Given the description of an element on the screen output the (x, y) to click on. 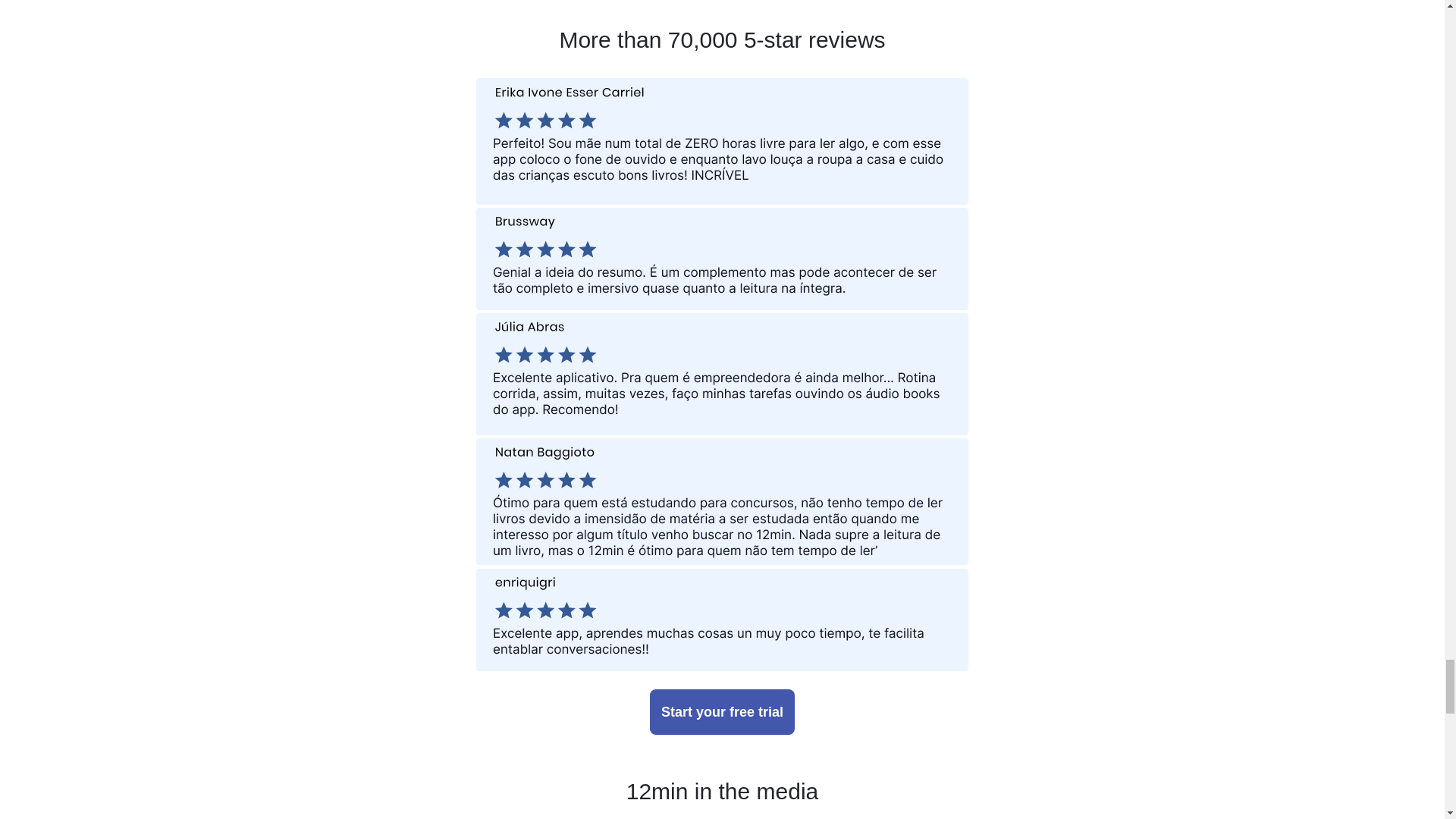
Start your free trial (721, 711)
